Given the description of an element on the screen output the (x, y) to click on. 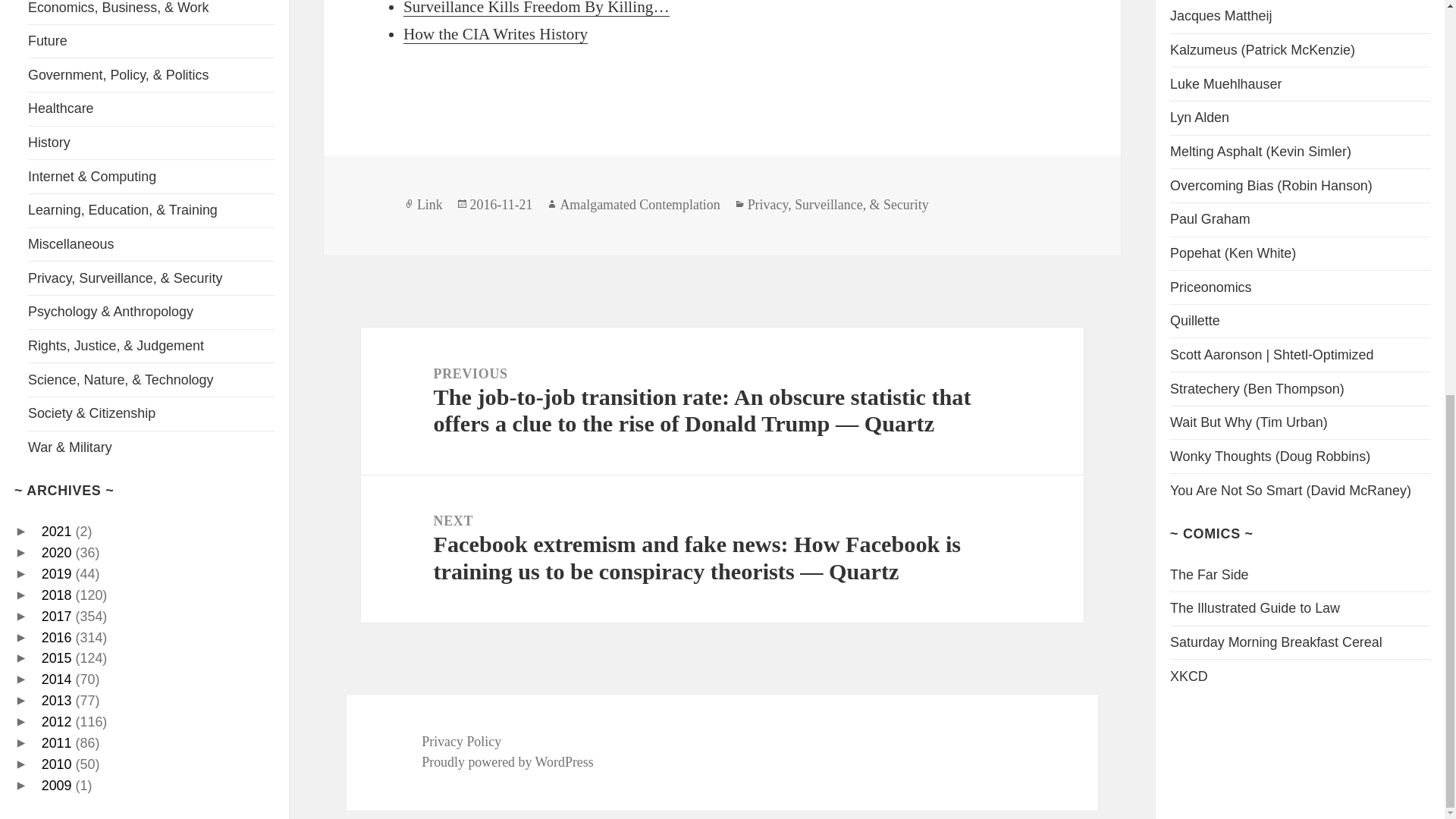
History (48, 142)
Healthcare (60, 108)
Future (46, 40)
Miscellaneous (70, 243)
